Given the description of an element on the screen output the (x, y) to click on. 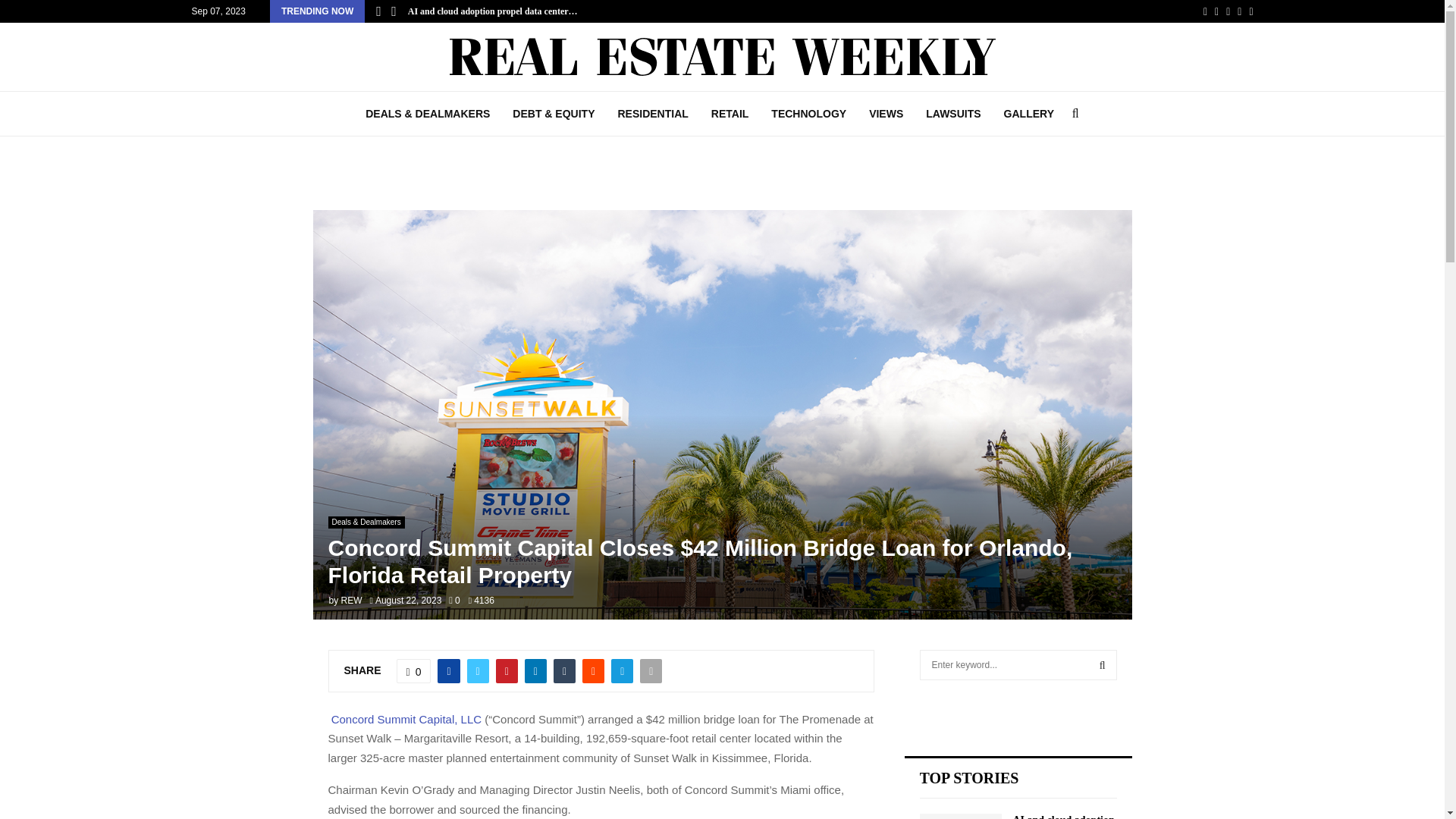
TECHNOLOGY (808, 113)
LAWSUITS (952, 113)
Like (413, 671)
GALLERY (1029, 113)
RESIDENTIAL (652, 113)
